Given the description of an element on the screen output the (x, y) to click on. 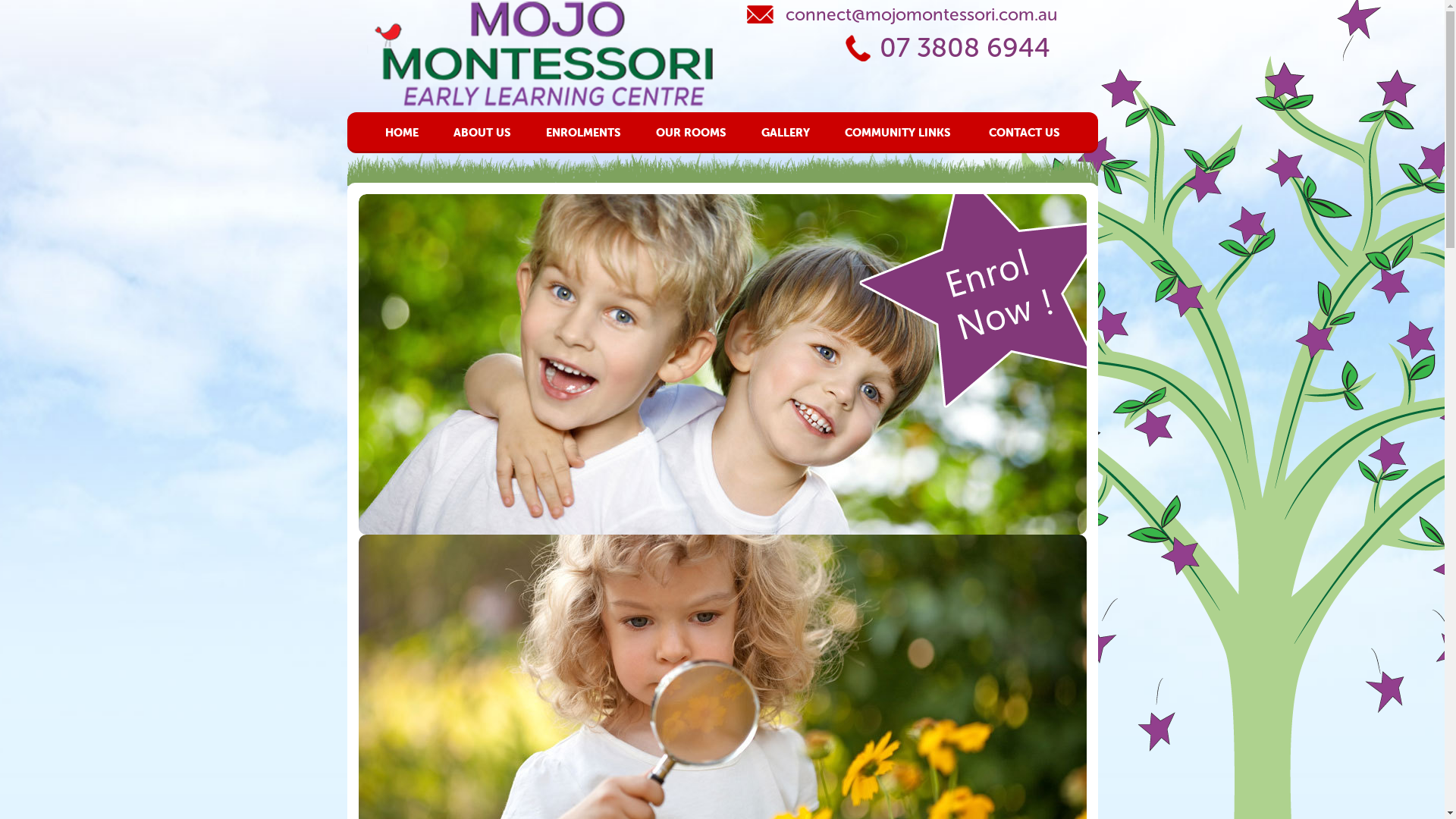
GALLERY Element type: text (785, 131)
COMMUNITY LINKS Element type: text (897, 131)
HOME Element type: text (401, 131)
07 3808 6944 Element type: text (950, 47)
OUR ROOMS Element type: text (690, 131)
connect@mojomontessori.com.au Element type: text (901, 14)
ABOUT US Element type: text (481, 131)
ENROLMENTS Element type: text (583, 131)
CONTACT US Element type: text (1024, 131)
